Given the description of an element on the screen output the (x, y) to click on. 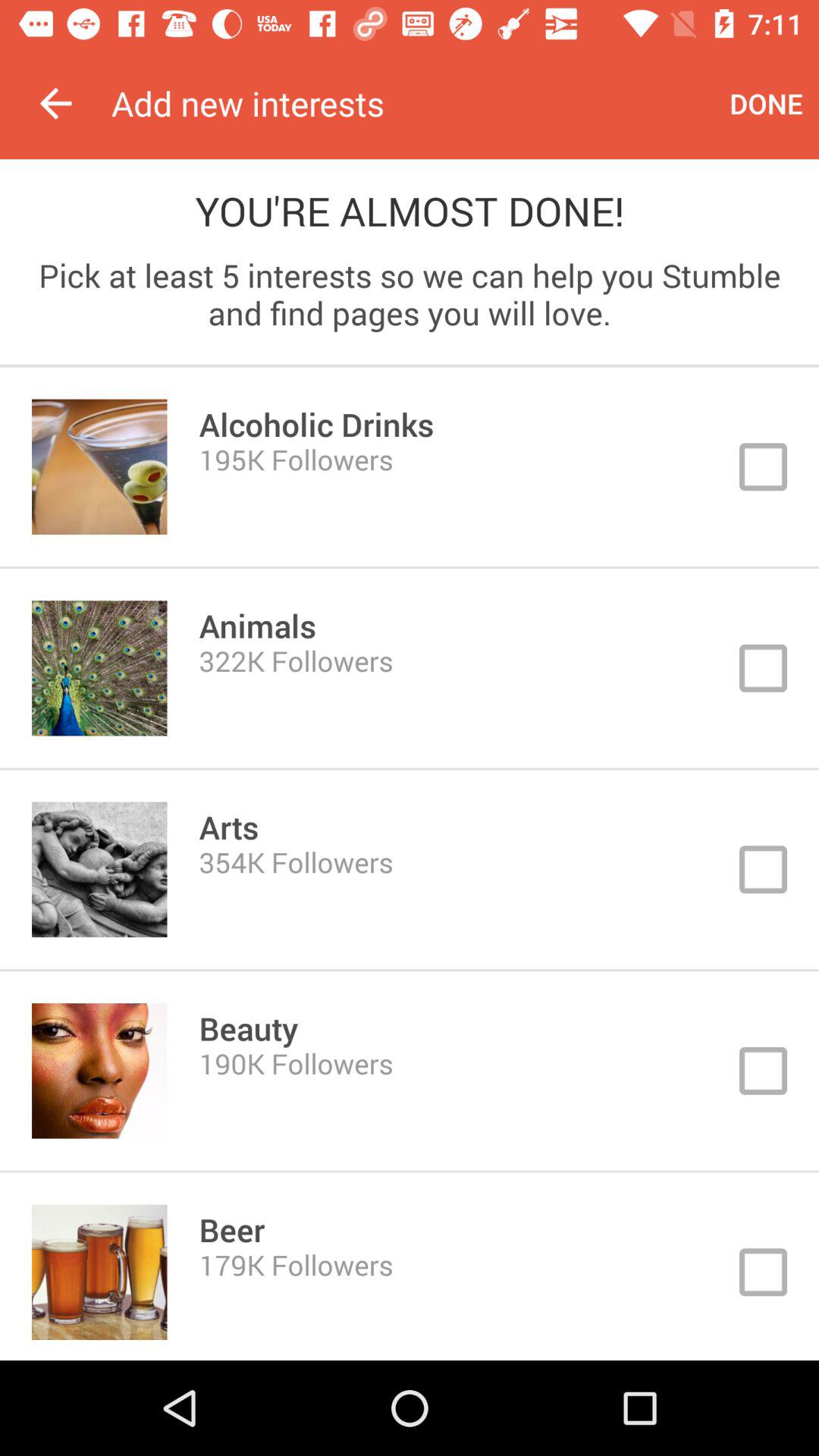
launch the icon to the left of done icon (412, 103)
